Given the description of an element on the screen output the (x, y) to click on. 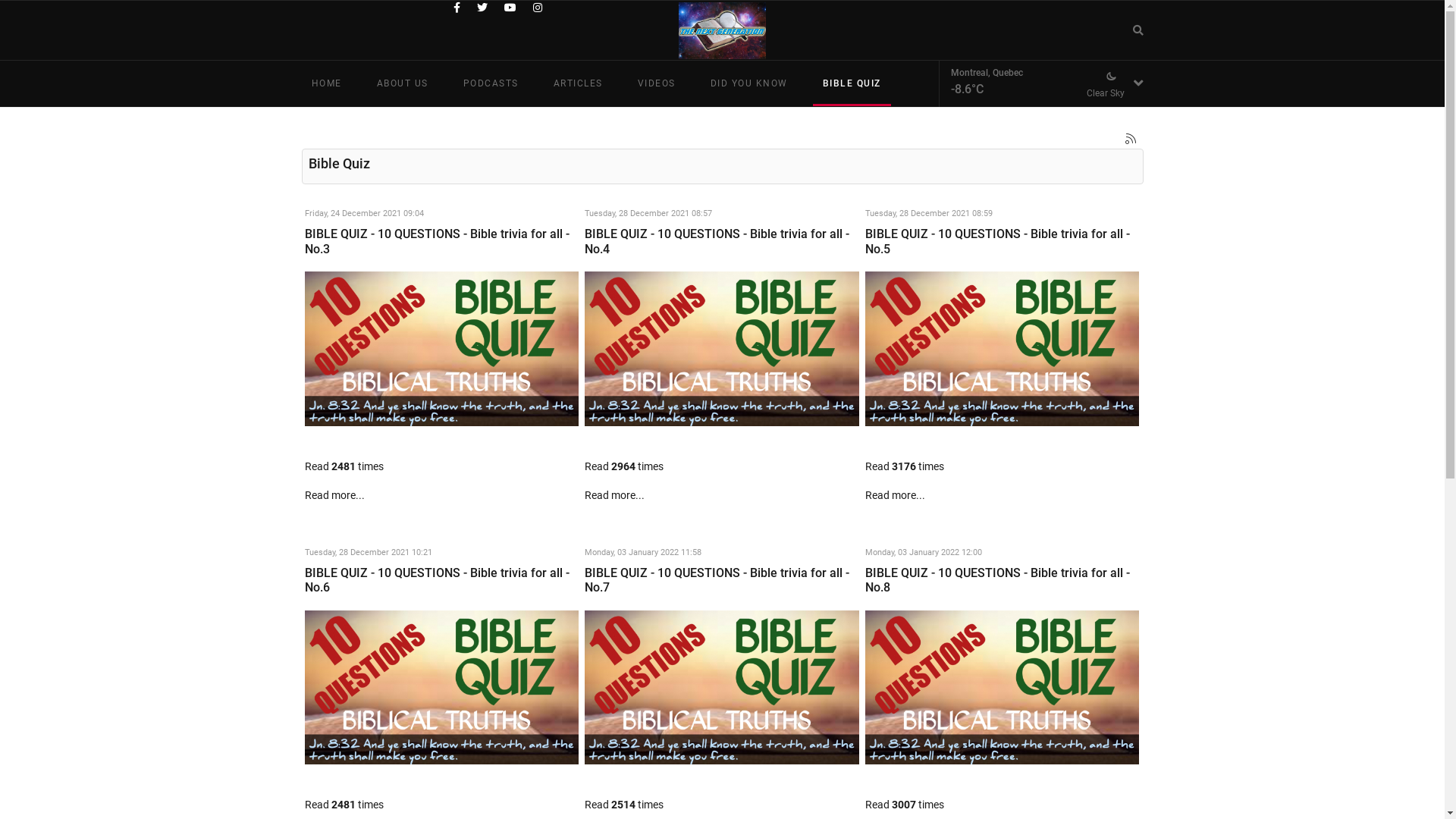
Subscribe to this RSS feed Element type: hover (1131, 139)
BIBLE QUIZ - 10 QUESTIONS - Bible trivia for all - No.3 Element type: hover (441, 348)
Read more... Element type: text (895, 495)
BIBLE QUIZ - 10 QUESTIONS - Bible trivia for all - No.4 Element type: hover (721, 348)
BIBLE QUIZ - 10 QUESTIONS - Bible trivia for all - No.5 Element type: hover (1002, 348)
BIBLE QUIZ - 10 QUESTIONS - Bible trivia for all - No.8 Element type: text (997, 579)
BIBLE QUIZ - 10 QUESTIONS - Bible trivia for all - No.4 Element type: text (716, 240)
ARTICLES Element type: text (576, 83)
ABOUT US Element type: text (402, 83)
BIBLE QUIZ - 10 QUESTIONS - Bible trivia for all - No.5 Element type: text (997, 240)
BIBLE QUIZ Element type: text (851, 83)
Read more... Element type: text (614, 495)
BIBLE QUIZ - 10 QUESTIONS - Bible trivia for all - No.8 Element type: hover (1002, 687)
BIBLE QUIZ - 10 QUESTIONS - Bible trivia for all - No.7 Element type: text (716, 579)
BIBLE QUIZ - 10 QUESTIONS - Bible trivia for all - No.3 Element type: text (436, 240)
HOME Element type: text (326, 83)
BIBLE QUIZ - 10 QUESTIONS - Bible trivia for all - No.7 Element type: hover (721, 687)
Read more... Element type: text (334, 495)
DID YOU KNOW Element type: text (748, 83)
Clear Sky Element type: hover (1110, 78)
BIBLE QUIZ - 10 QUESTIONS - Bible trivia for all - No.6 Element type: hover (441, 687)
BIBLE QUIZ - 10 QUESTIONS - Bible trivia for all - No.6 Element type: text (436, 579)
VIDEOS Element type: text (656, 83)
PODCASTS Element type: text (490, 83)
